Given the description of an element on the screen output the (x, y) to click on. 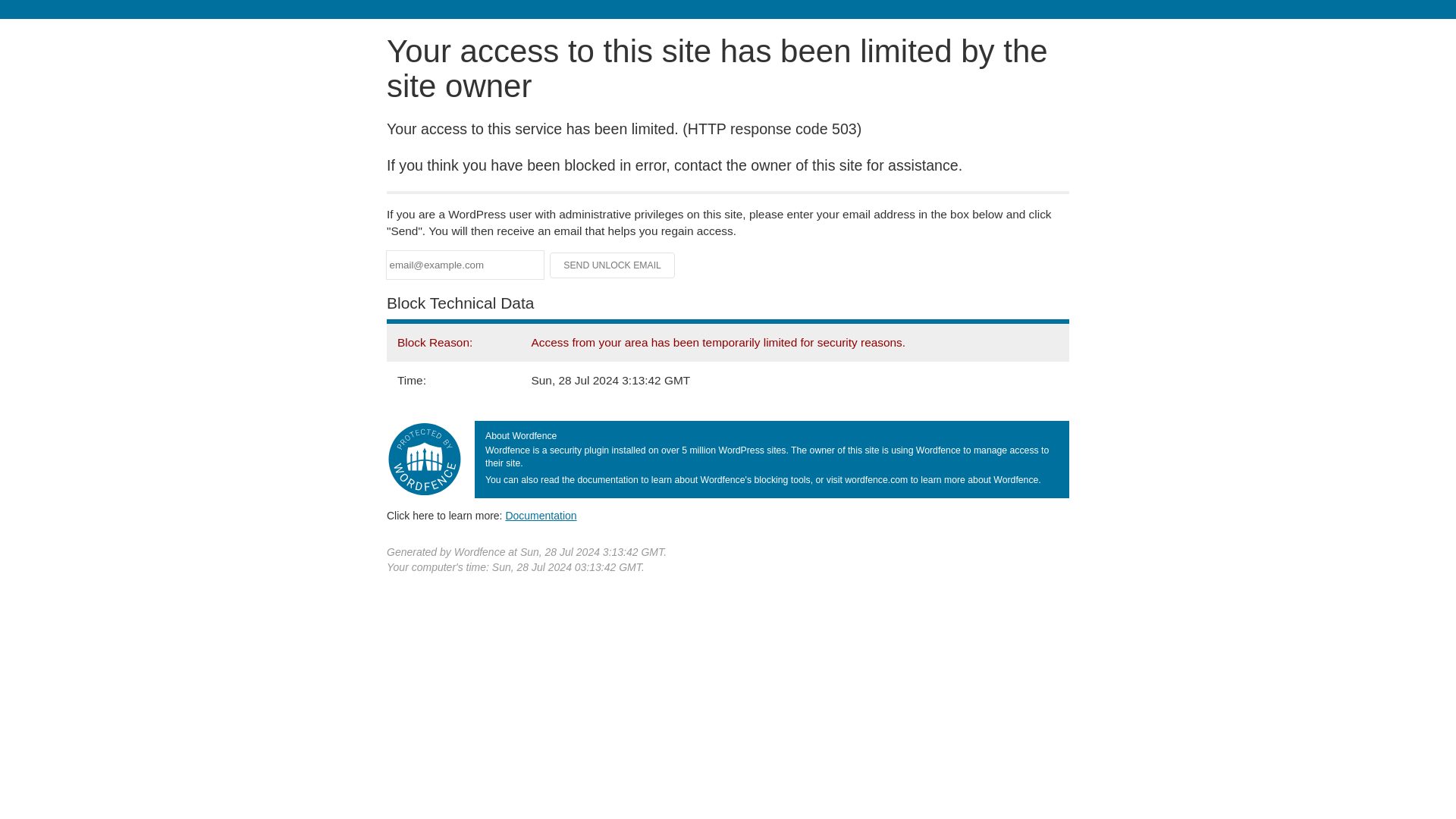
Documentation (540, 515)
Send Unlock Email (612, 265)
Send Unlock Email (612, 265)
